Given the description of an element on the screen output the (x, y) to click on. 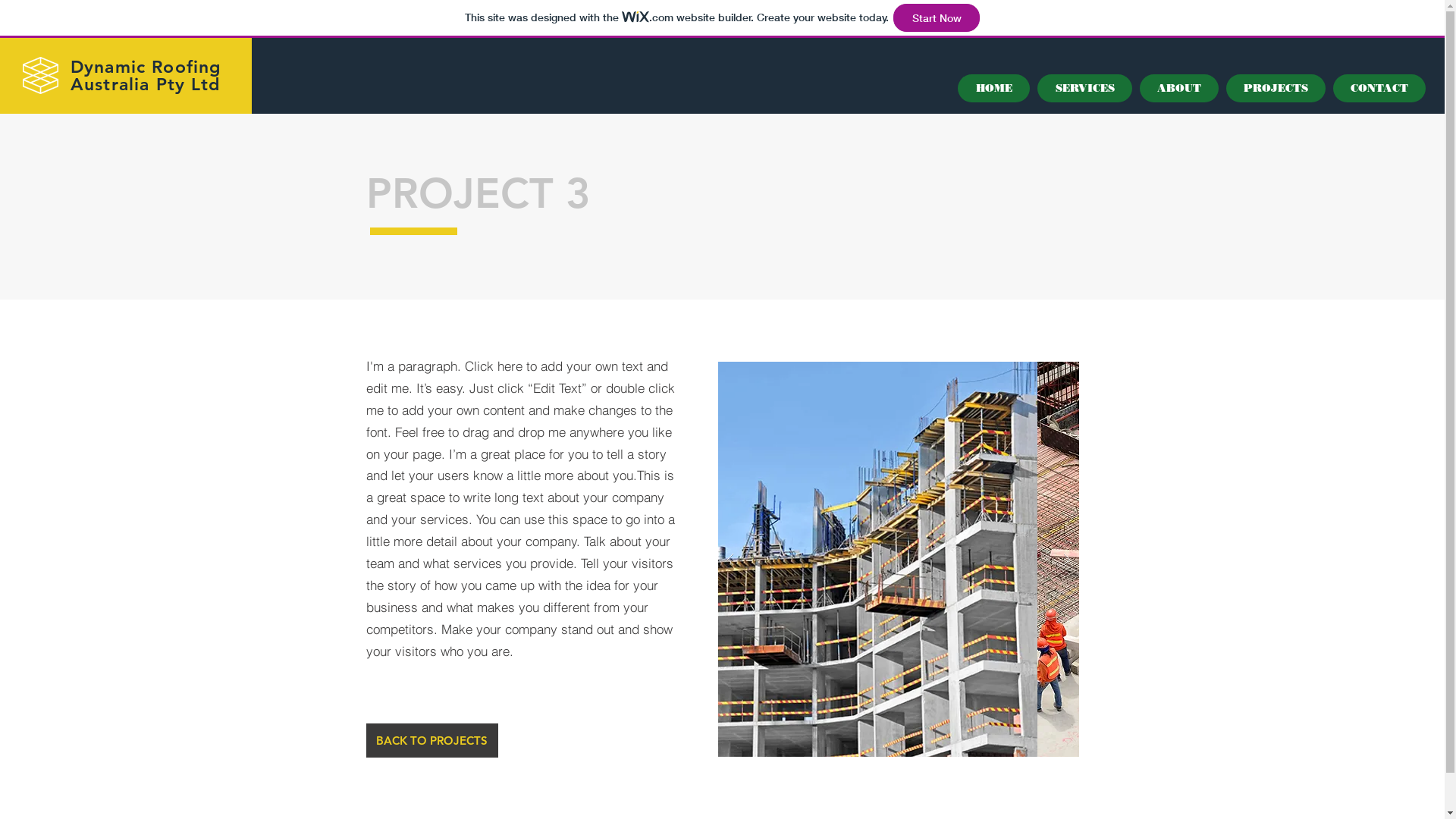
CONTACT Element type: text (1379, 88)
HOME Element type: text (993, 88)
PROJECTS Element type: text (1275, 88)
ABOUT Element type: text (1178, 88)
SERVICES Element type: text (1084, 88)
BACK TO PROJECTS Element type: text (431, 740)
